Given the description of an element on the screen output the (x, y) to click on. 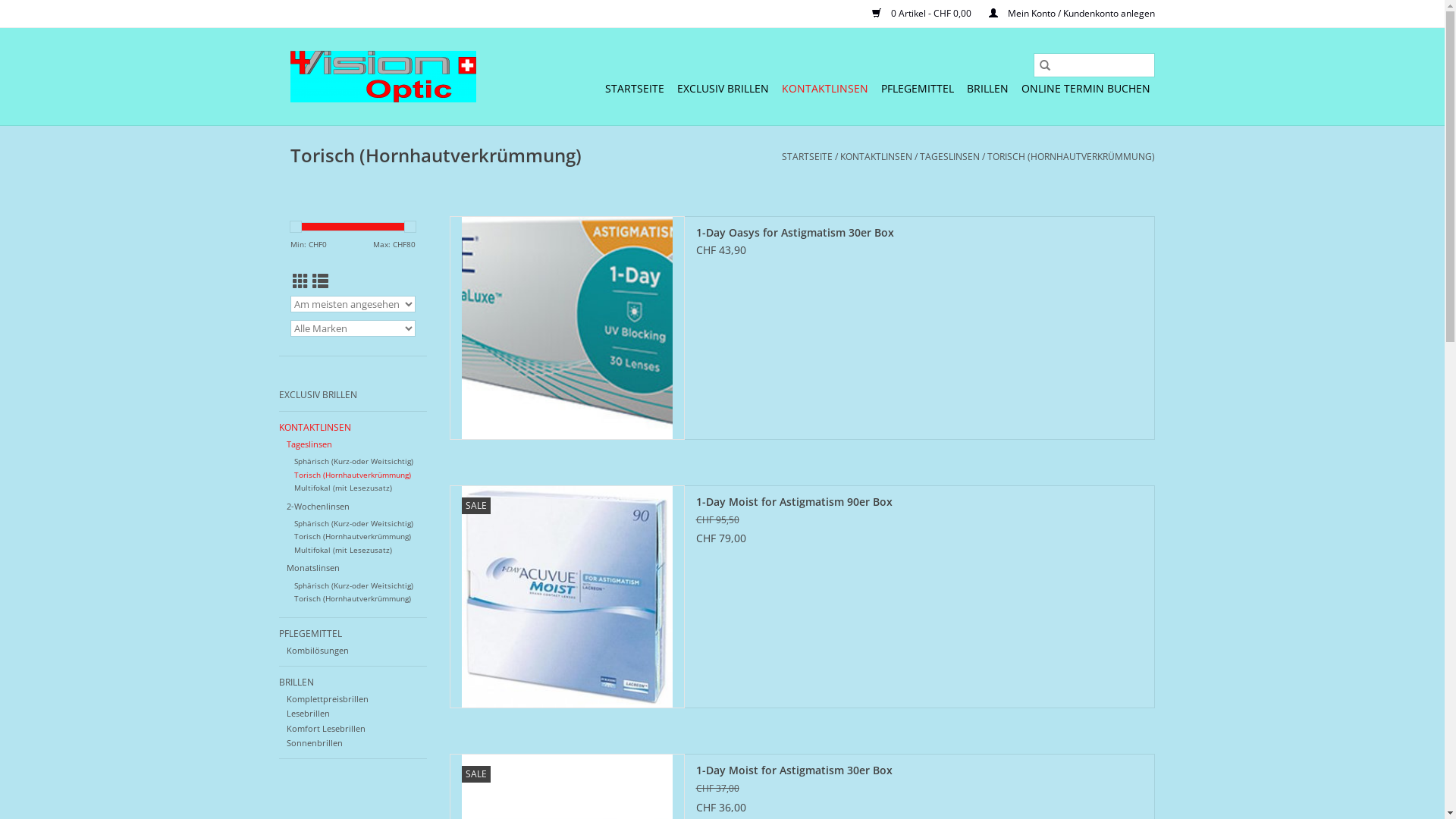
EXCLUSIV BRILLEN Element type: text (352, 394)
Tageslinsen Element type: text (309, 443)
ONLINE TERMIN BUCHEN Element type: text (1085, 87)
Acuvue 1-Day Oasys for Astigmatism 30er Box Element type: hover (566, 327)
Komfort Lesebrillen Element type: text (325, 728)
KONTAKTLINSEN Element type: text (876, 156)
TAGESLINSEN Element type: text (949, 156)
KONTAKTLINSEN Element type: text (352, 427)
KONTAKTLINSEN Element type: text (824, 87)
0 Artikel - CHF 0,00 Element type: text (914, 12)
PFLEGEMITTEL Element type: text (352, 633)
4visionoptic Element type: hover (382, 76)
BRILLEN Element type: text (352, 682)
STARTSEITE Element type: text (806, 156)
Komplettpreisbrillen Element type: text (327, 698)
1-Day Moist for Astigmatism 30er Box Element type: text (919, 770)
Sonnenbrillen Element type: text (314, 742)
2-Wochenlinsen Element type: text (317, 505)
Monatslinsen Element type: text (312, 567)
PFLEGEMITTEL Element type: text (917, 87)
BRILLEN Element type: text (986, 87)
Multifokal (mit Lesezusatz) Element type: text (343, 550)
Acuvue 1-Day Moist for Astigmatism 90er Box Element type: hover (566, 596)
EXCLUSIV BRILLEN Element type: text (721, 87)
Lesebrillen Element type: text (307, 712)
1-Day Oasys for Astigmatism 30er Box Element type: text (919, 232)
1-Day Moist for Astigmatism 90er Box Element type: text (919, 501)
Mein Konto / Kundenkonto anlegen Element type: text (1063, 12)
SALE Element type: text (566, 596)
Multifokal (mit Lesezusatz) Element type: text (343, 487)
STARTSEITE Element type: text (634, 87)
Suchen Element type: hover (1043, 65)
